Given the description of an element on the screen output the (x, y) to click on. 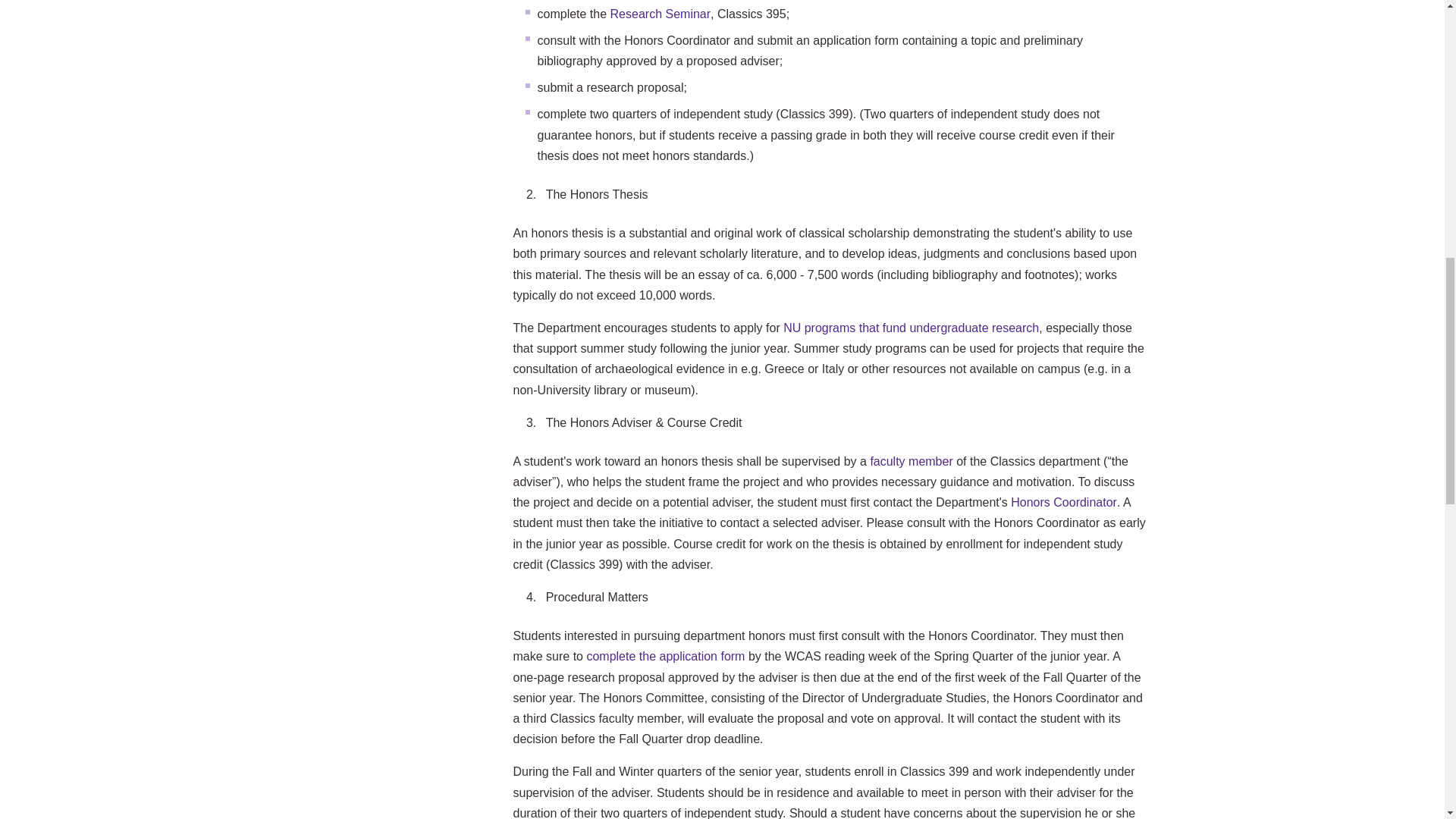
Undergraduate Research Funding (911, 327)
